Given the description of an element on the screen output the (x, y) to click on. 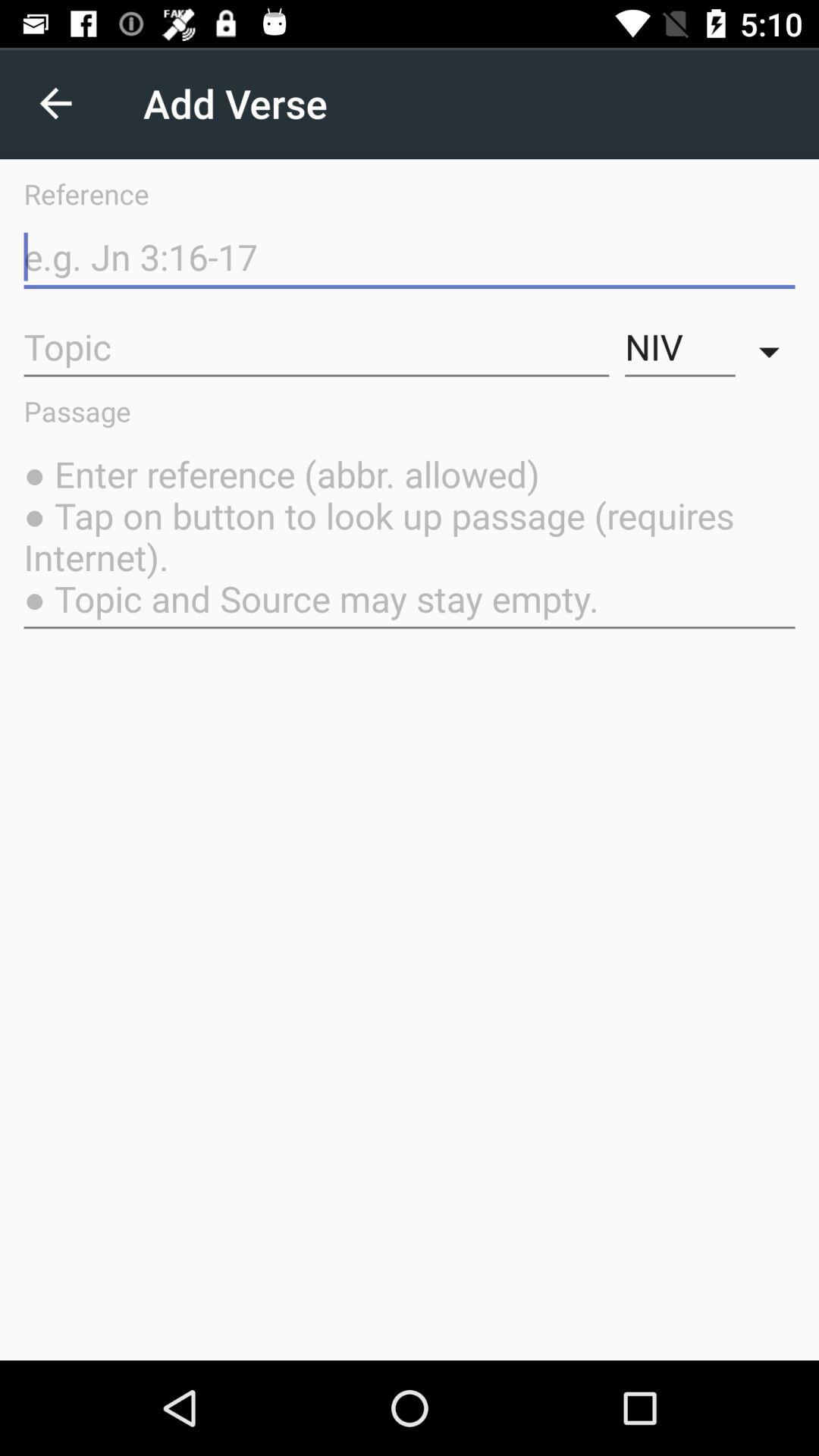
jump until the niv item (680, 347)
